Given the description of an element on the screen output the (x, y) to click on. 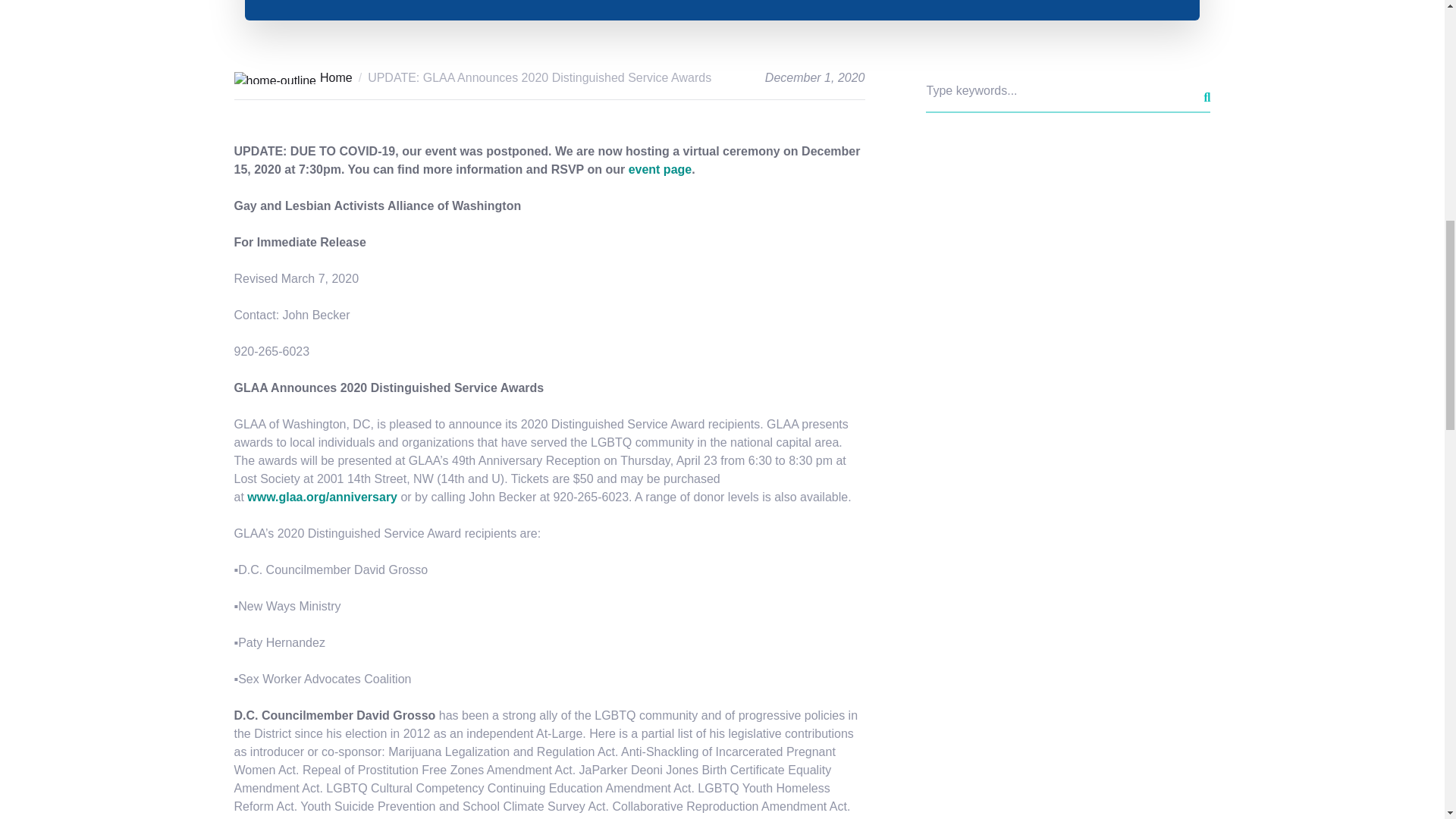
event page (660, 169)
Home (292, 77)
Type keywords... (1066, 90)
